Given the description of an element on the screen output the (x, y) to click on. 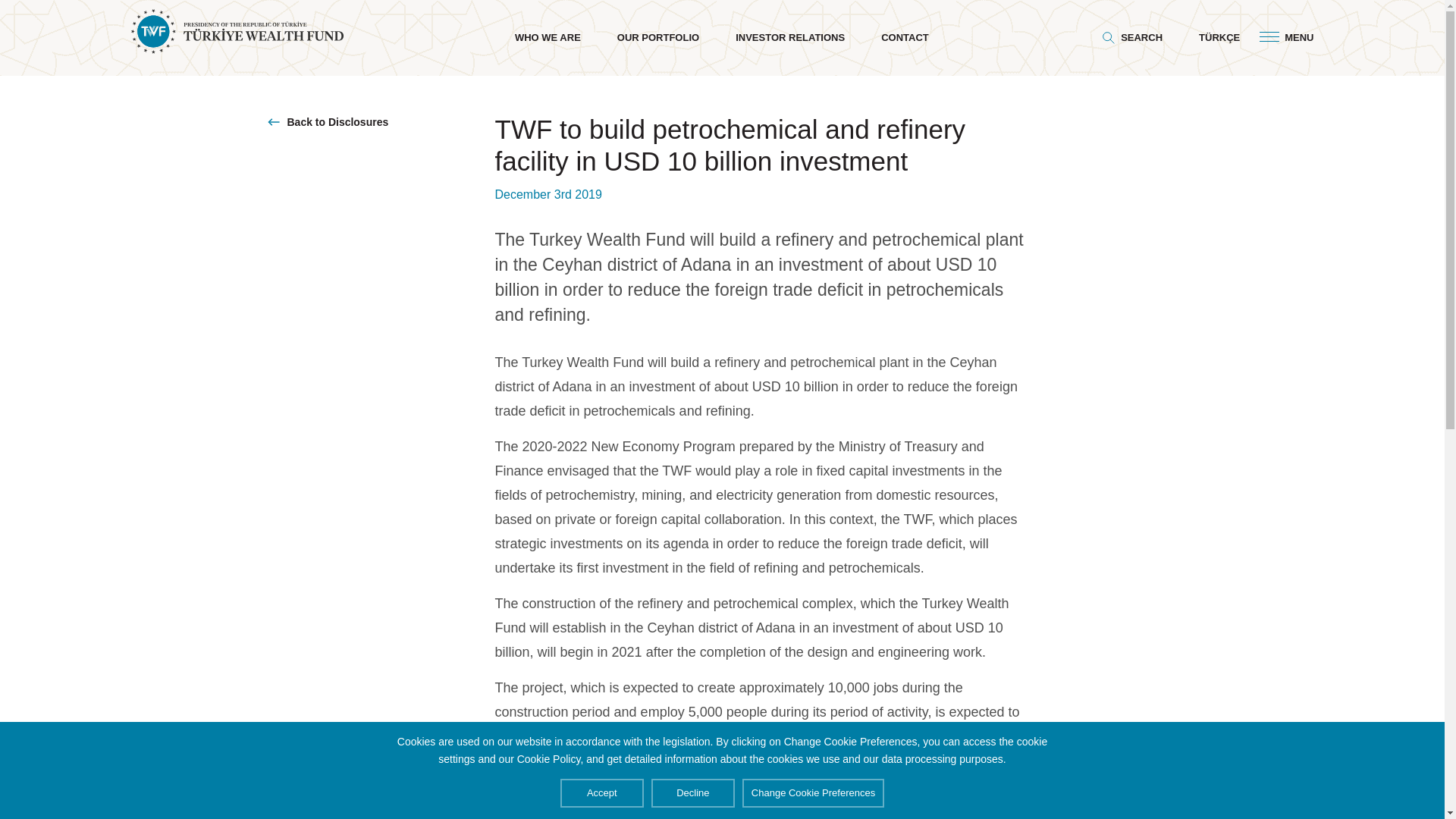
Change Cookie Preferences (812, 792)
Our Portfolio (657, 37)
Accept (601, 792)
CONTACT (904, 37)
Back to Disclosures (380, 121)
INVESTOR RELATIONS (789, 37)
Investor Relations (789, 37)
Decline (692, 792)
WHO WE ARE (547, 37)
SEARCH (1130, 37)
Contact (904, 37)
Who we are (547, 37)
OUR PORTFOLIO (657, 37)
